Given the description of an element on the screen output the (x, y) to click on. 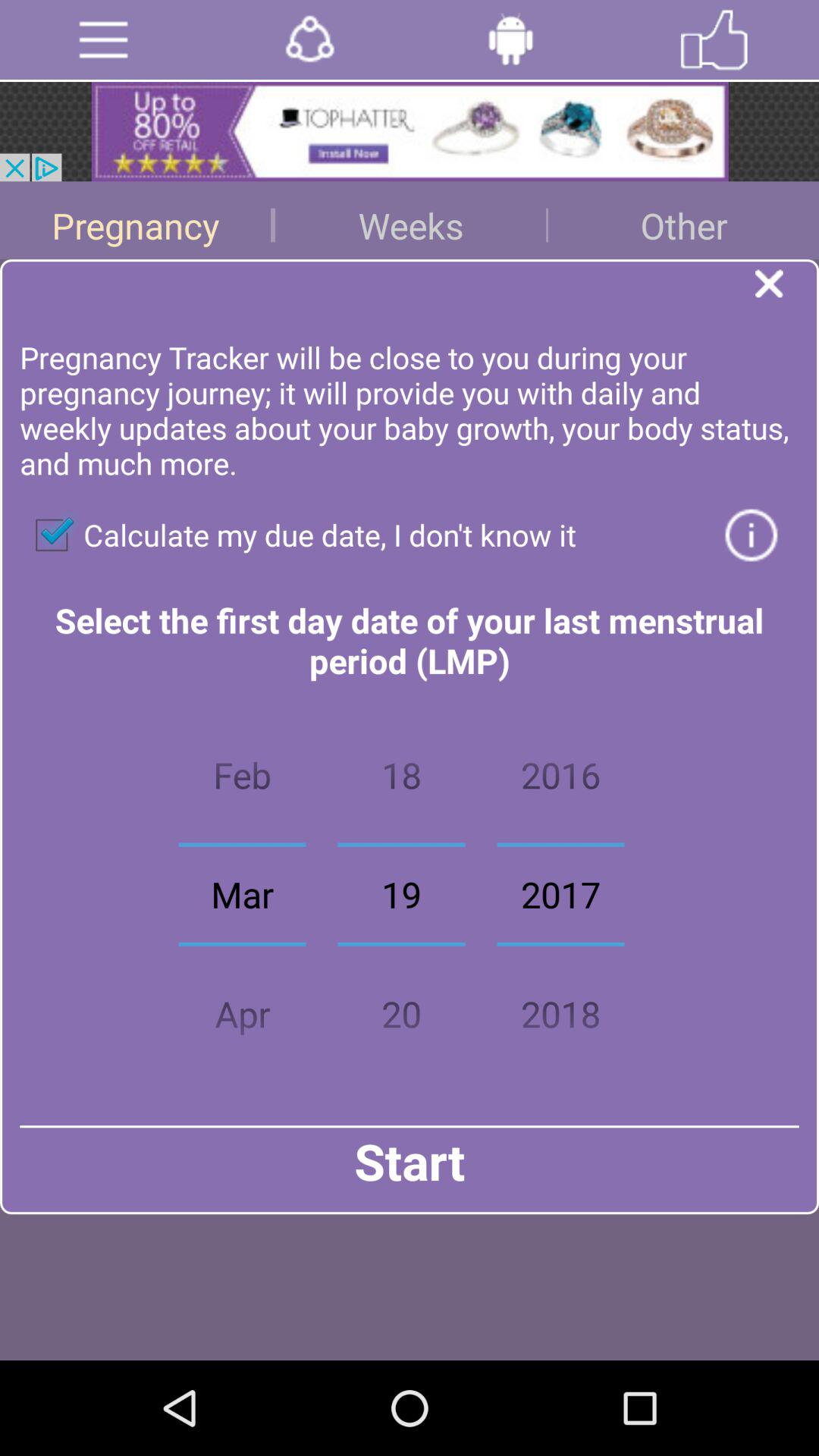
like (714, 39)
